Given the description of an element on the screen output the (x, y) to click on. 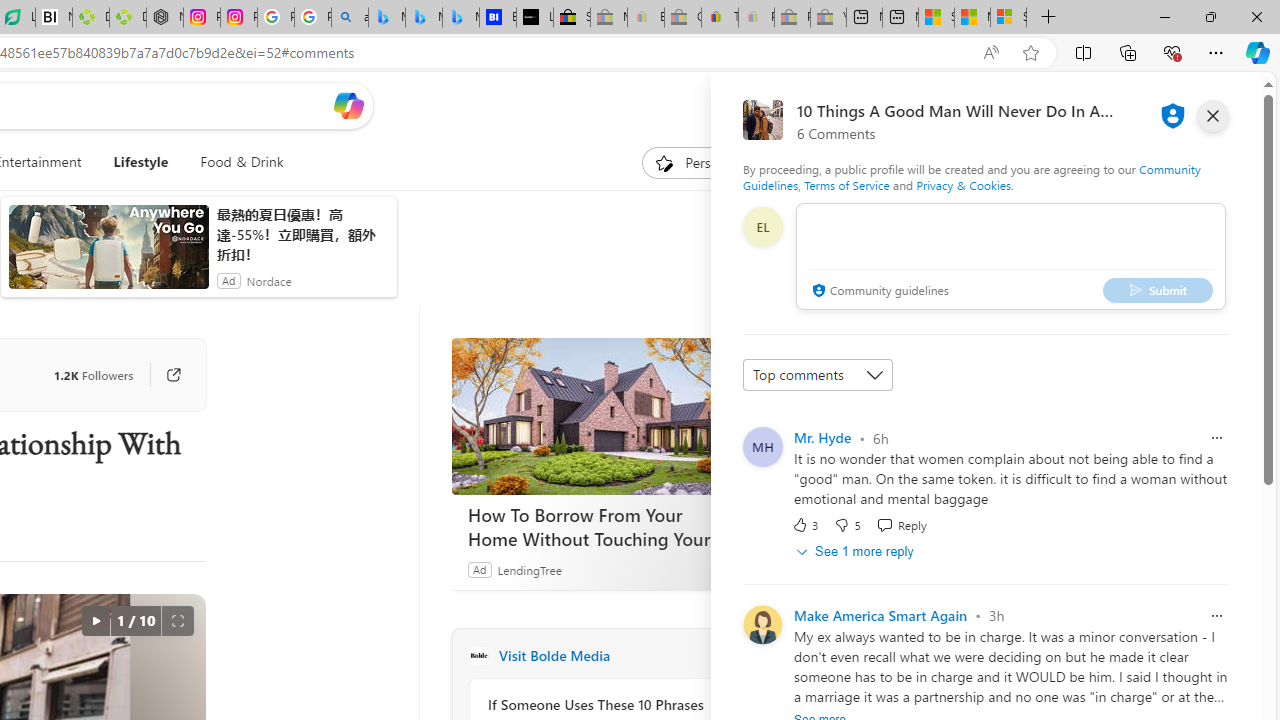
Shanghai, China hourly forecast | Microsoft Weather (936, 17)
Sort comments by (817, 374)
Nordace (268, 280)
Visit Bolde Media website (726, 655)
Community guidelines (878, 291)
Personalize (703, 162)
Open Copilot (347, 105)
Payments Terms of Use | eBay.com - Sleeping (756, 17)
Full screen (177, 620)
Mr. Hyde (822, 437)
Threats and offensive language policy | eBay (719, 17)
Reply Reply Comment (900, 524)
